Given the description of an element on the screen output the (x, y) to click on. 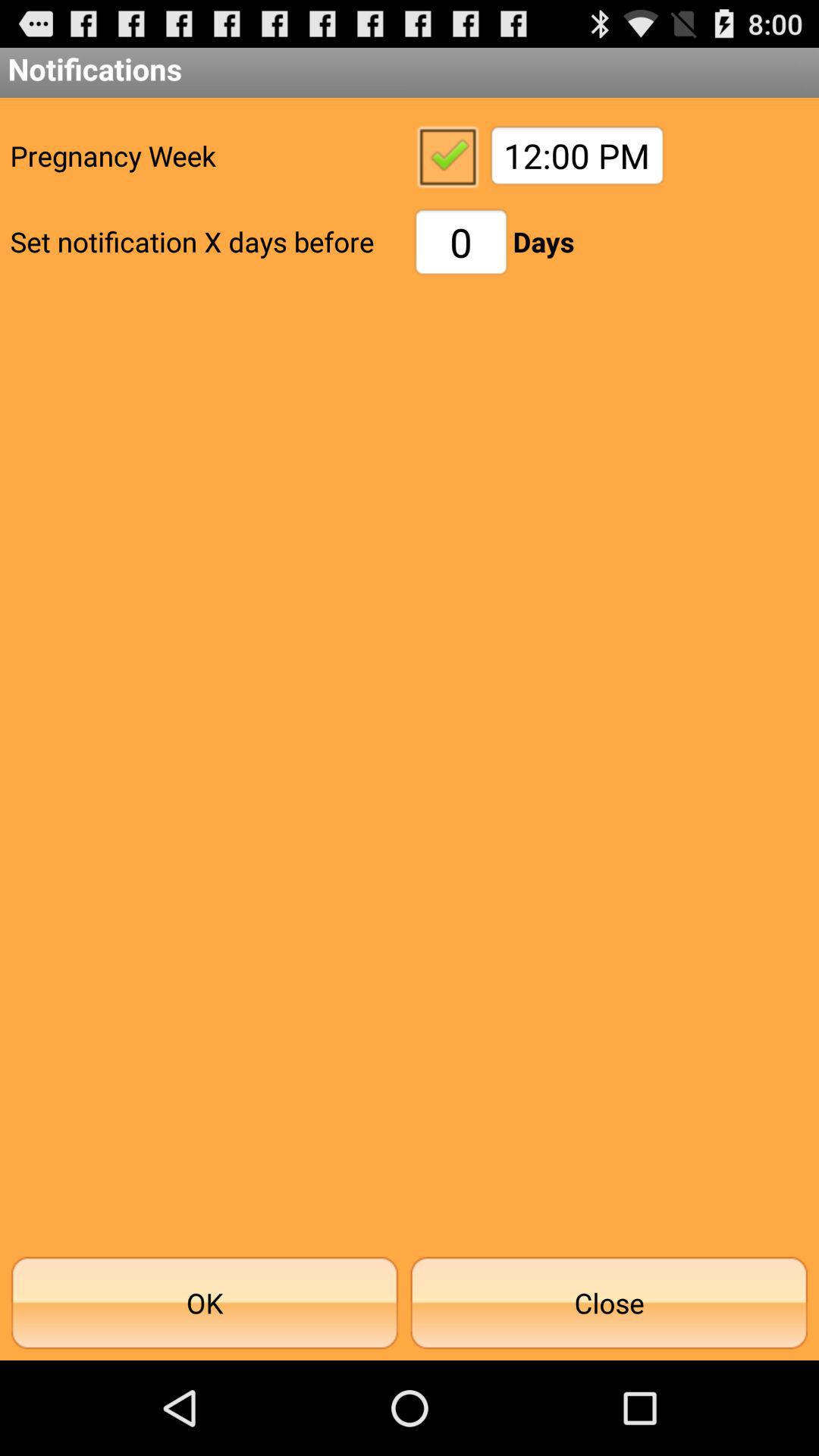
pregnancy week notification check box (447, 155)
